Given the description of an element on the screen output the (x, y) to click on. 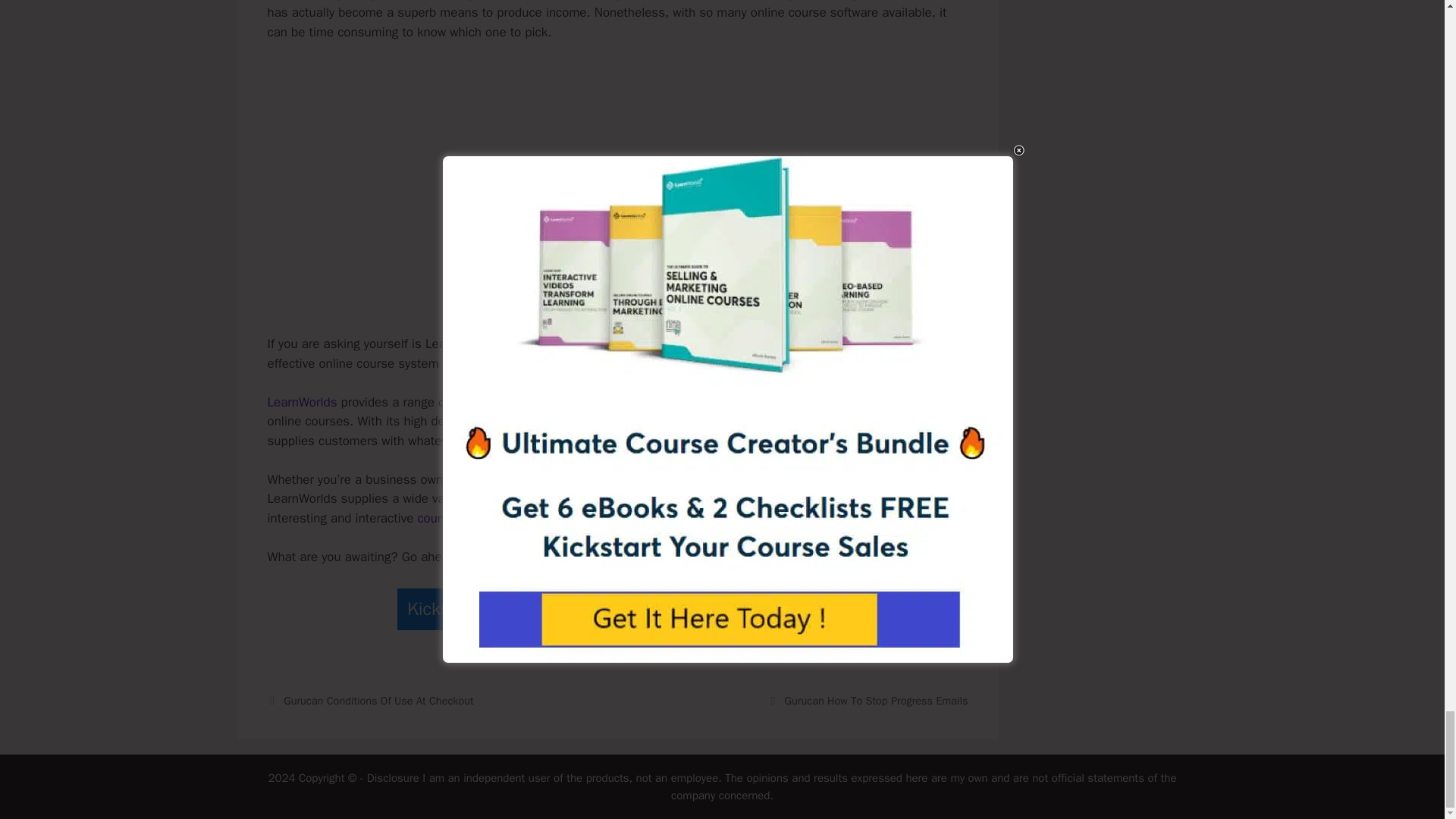
Kickstart Your LearnWorlds 30 Day Free Trial Now (617, 608)
Gurucan How To Stop Progress Emails (876, 700)
courses (438, 518)
LearnWorlds (301, 401)
e-learning (793, 479)
Gurucan Conditions Of Use At Checkout (378, 700)
